Given the description of an element on the screen output the (x, y) to click on. 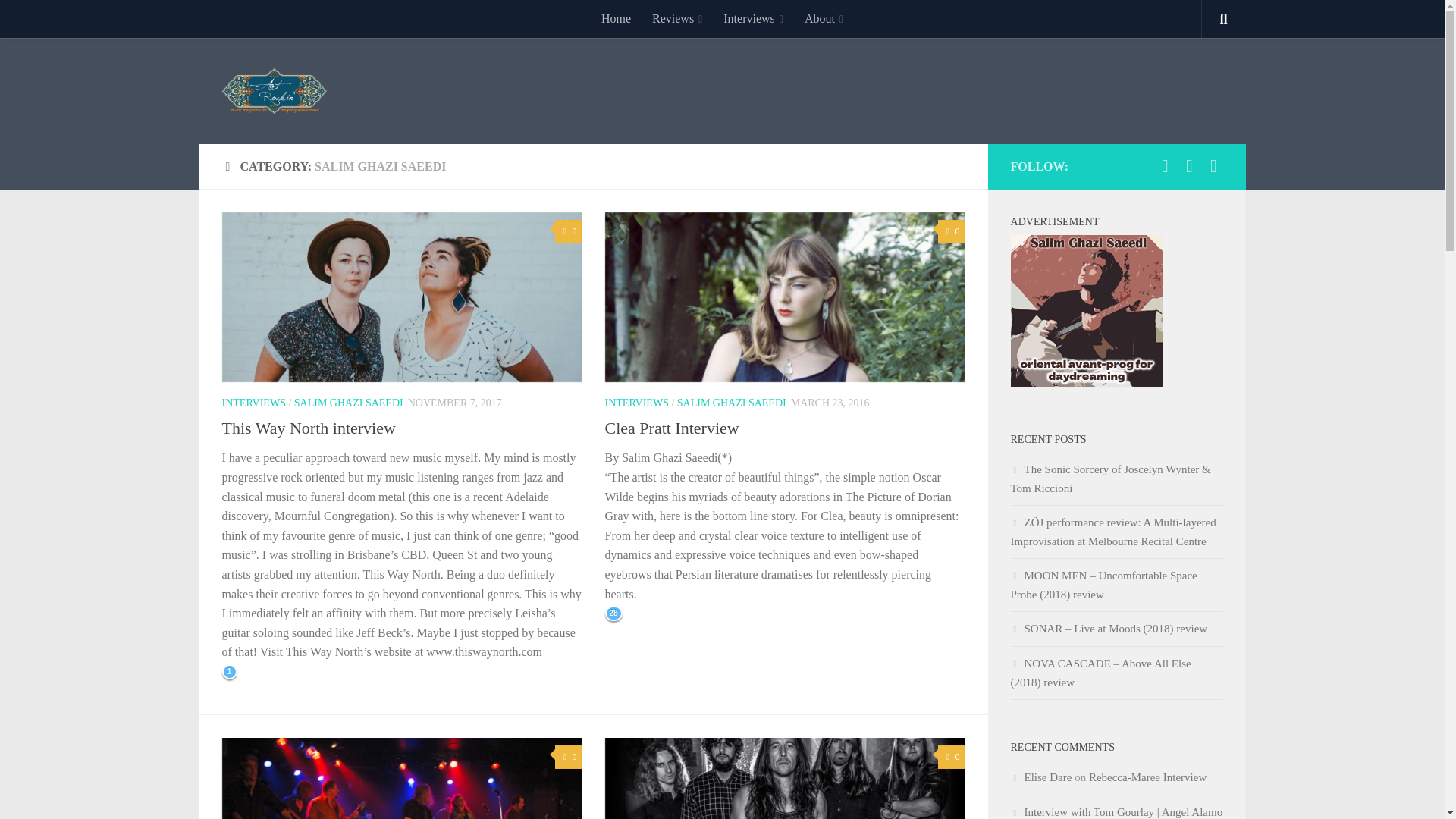
0 (950, 231)
About (823, 18)
0 (567, 231)
Reviews (677, 18)
SALIM GHAZI SAEEDI (348, 402)
INTERVIEWS (636, 402)
This Way North interview (307, 427)
Interviews (753, 18)
Permalink to This Way North interview (307, 427)
Skip to content (59, 20)
Home (616, 18)
INTERVIEWS (253, 402)
